Given the description of an element on the screen output the (x, y) to click on. 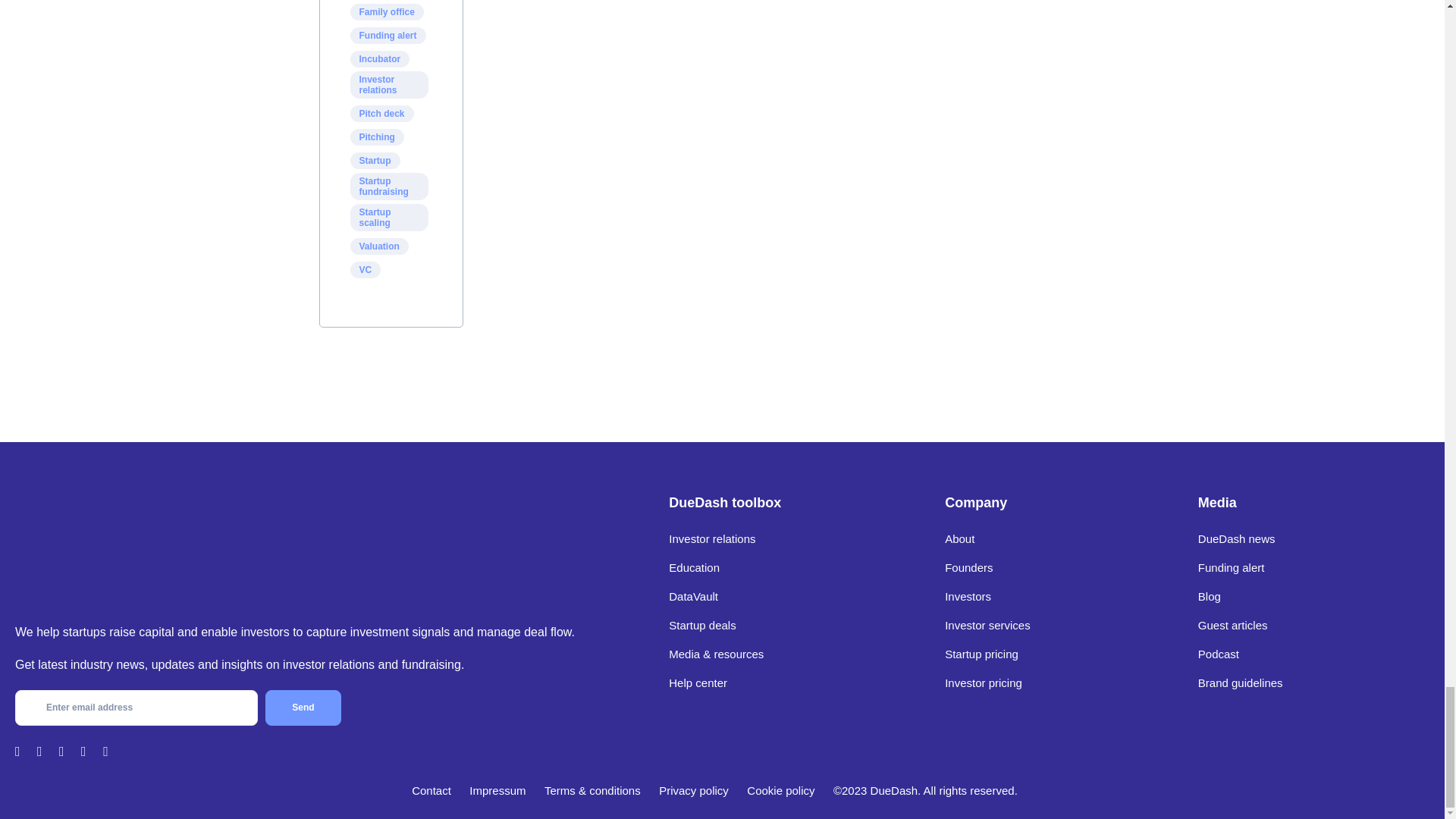
Send (302, 707)
